Given the description of an element on the screen output the (x, y) to click on. 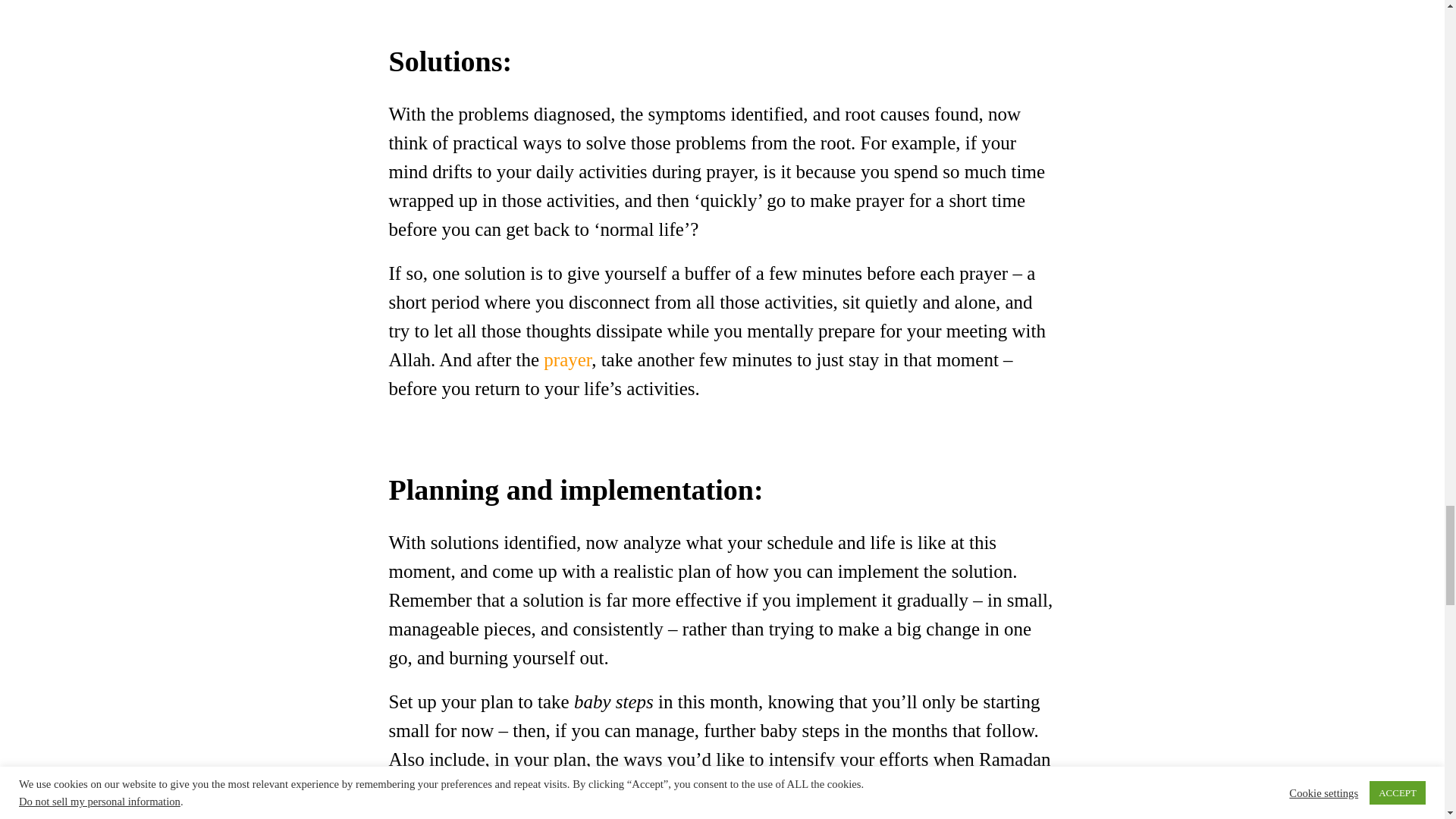
prayer (567, 359)
